Given the description of an element on the screen output the (x, y) to click on. 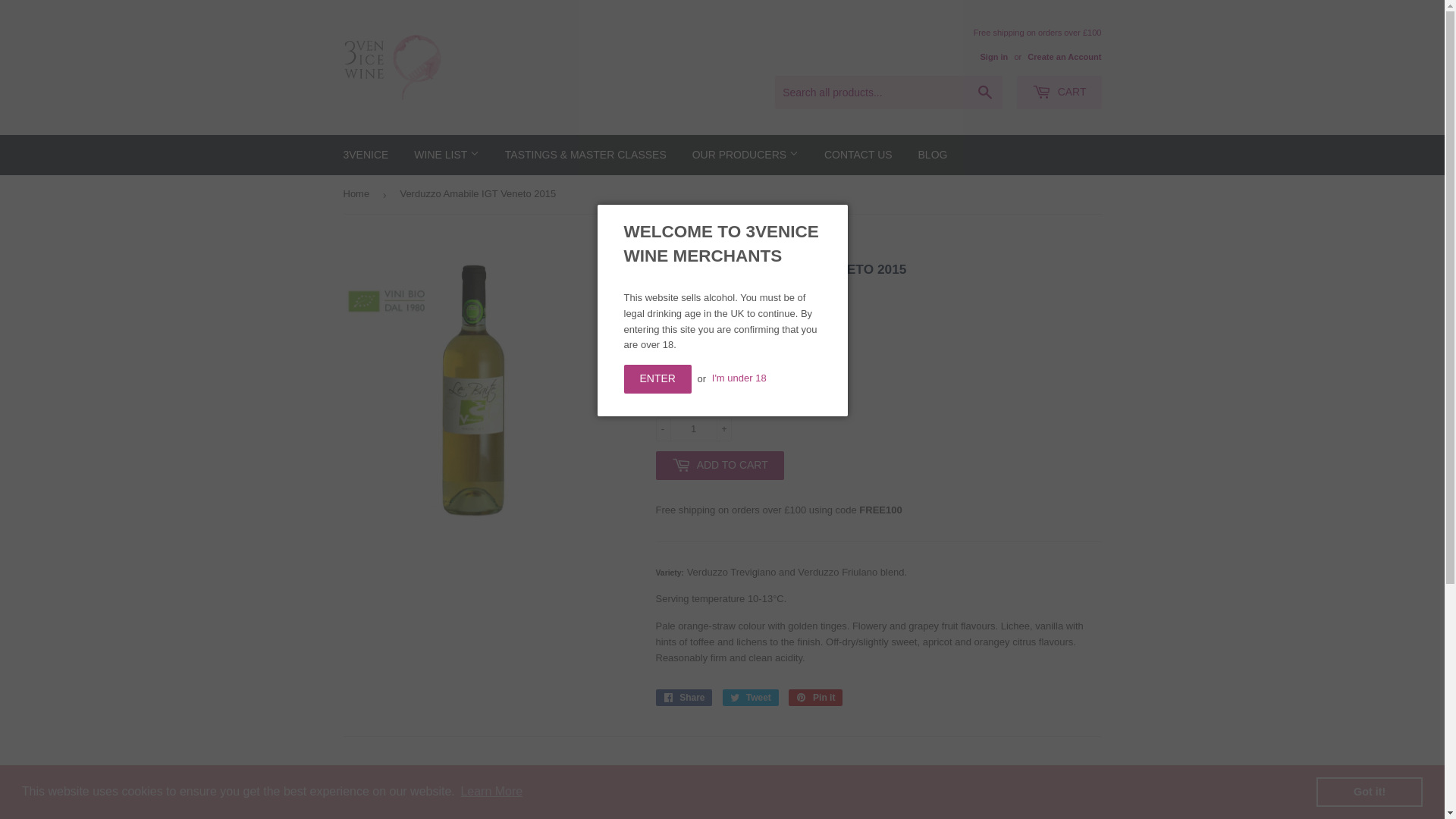
Search Element type: text (985, 93)
Home Element type: text (358, 194)
Pin it
Pin on Pinterest Element type: text (815, 697)
Create an Account Element type: text (1064, 56)
CART Element type: text (1058, 92)
Got it! Element type: text (1369, 791)
Sign in Element type: text (993, 56)
CONTACT US Element type: text (857, 154)
BLOG Element type: text (932, 154)
ENTER Element type: text (656, 378)
WINE LIST Element type: text (446, 154)
ADD TO CART Element type: text (719, 465)
I'm under 18 Element type: text (739, 378)
Tweet
Tweet on Twitter Element type: text (750, 697)
OUR PRODUCERS Element type: text (744, 154)
Learn More Element type: text (491, 791)
TASTINGS & MASTER CLASSES Element type: text (585, 154)
Share
Share on Facebook Element type: text (683, 697)
3VENICE Element type: text (366, 154)
